Given the description of an element on the screen output the (x, y) to click on. 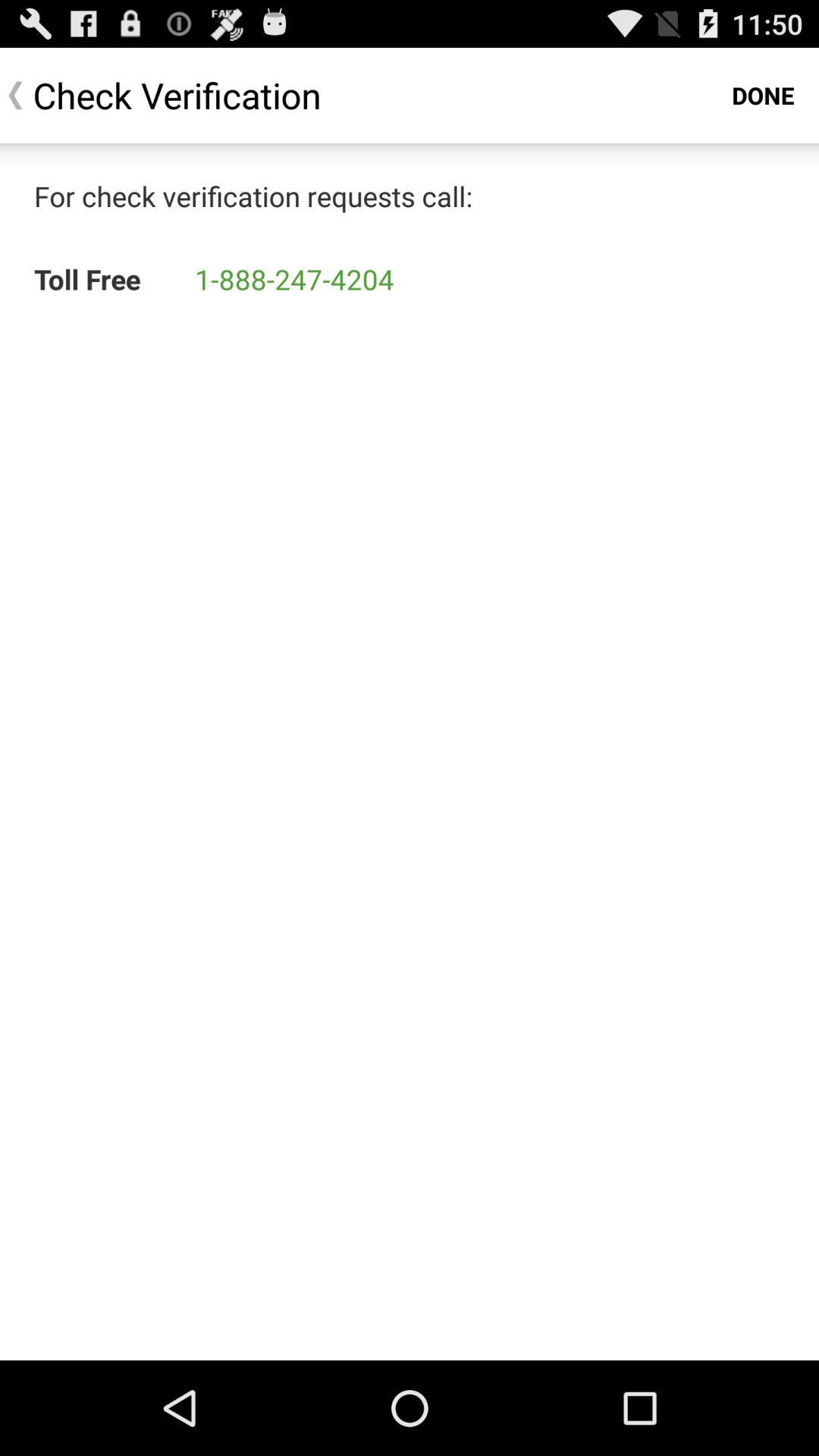
press item to the right of check verification item (763, 95)
